Given the description of an element on the screen output the (x, y) to click on. 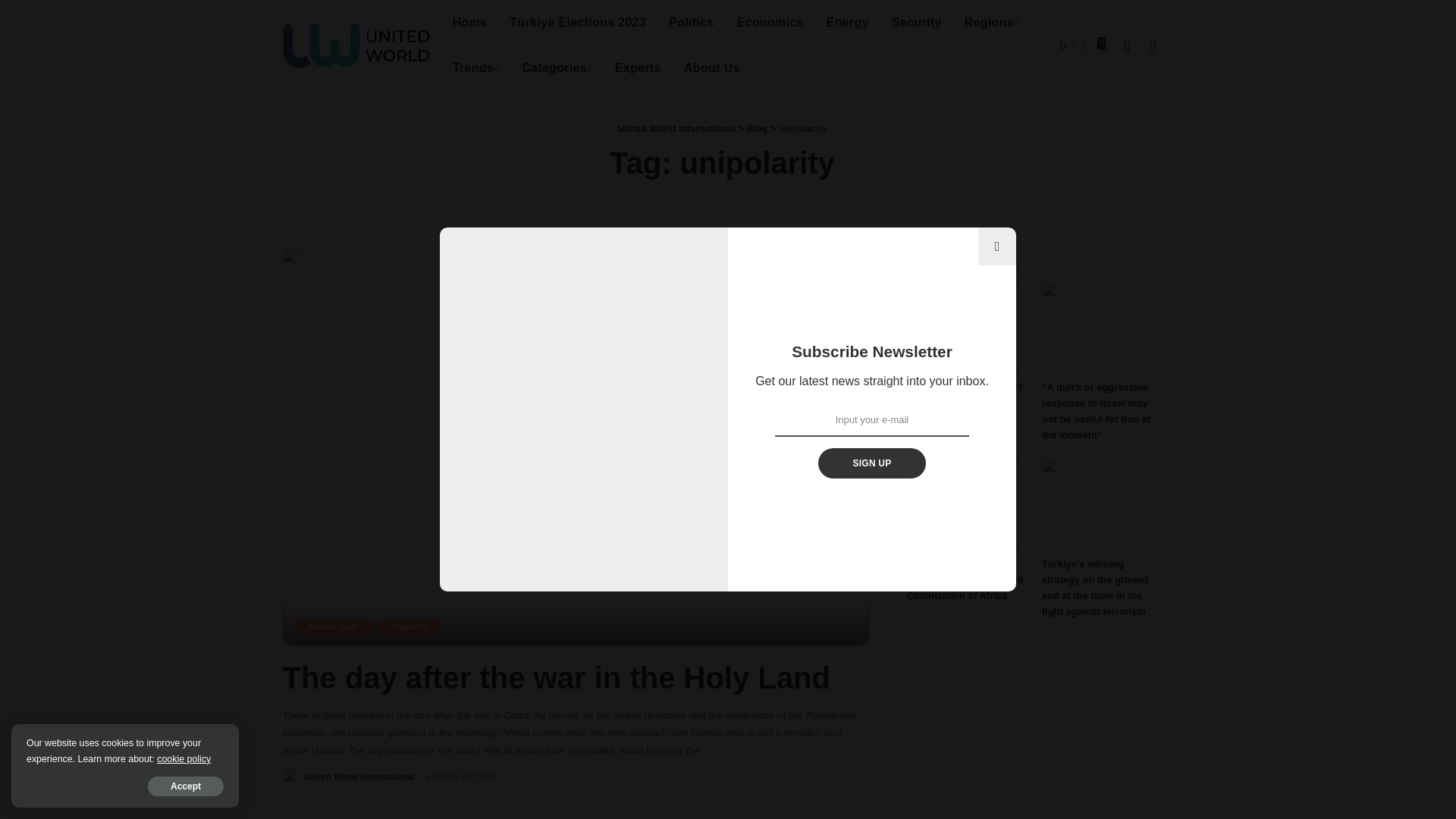
Go to United World International. (676, 128)
SIGN UP (871, 462)
Go to Blog. (757, 128)
United World International (355, 44)
